Given the description of an element on the screen output the (x, y) to click on. 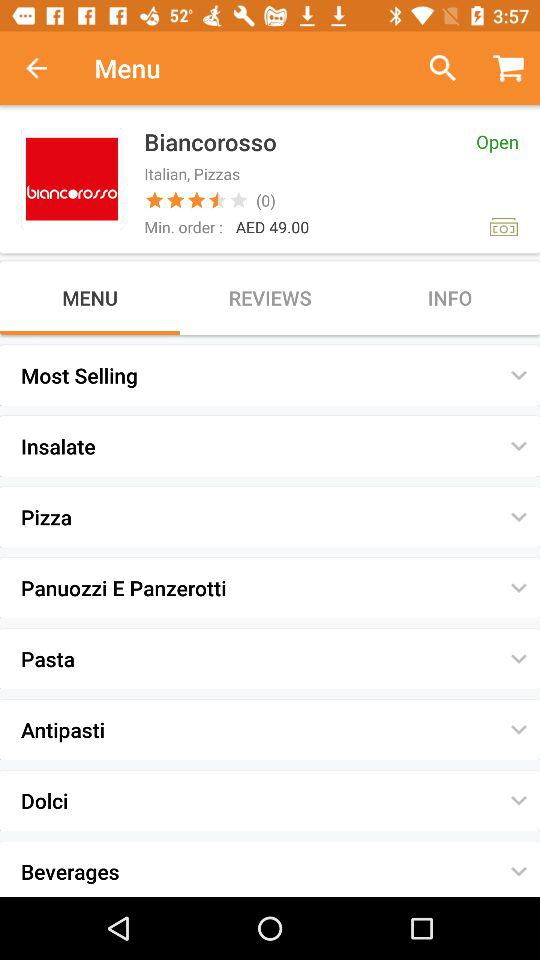
back button (47, 68)
